Given the description of an element on the screen output the (x, y) to click on. 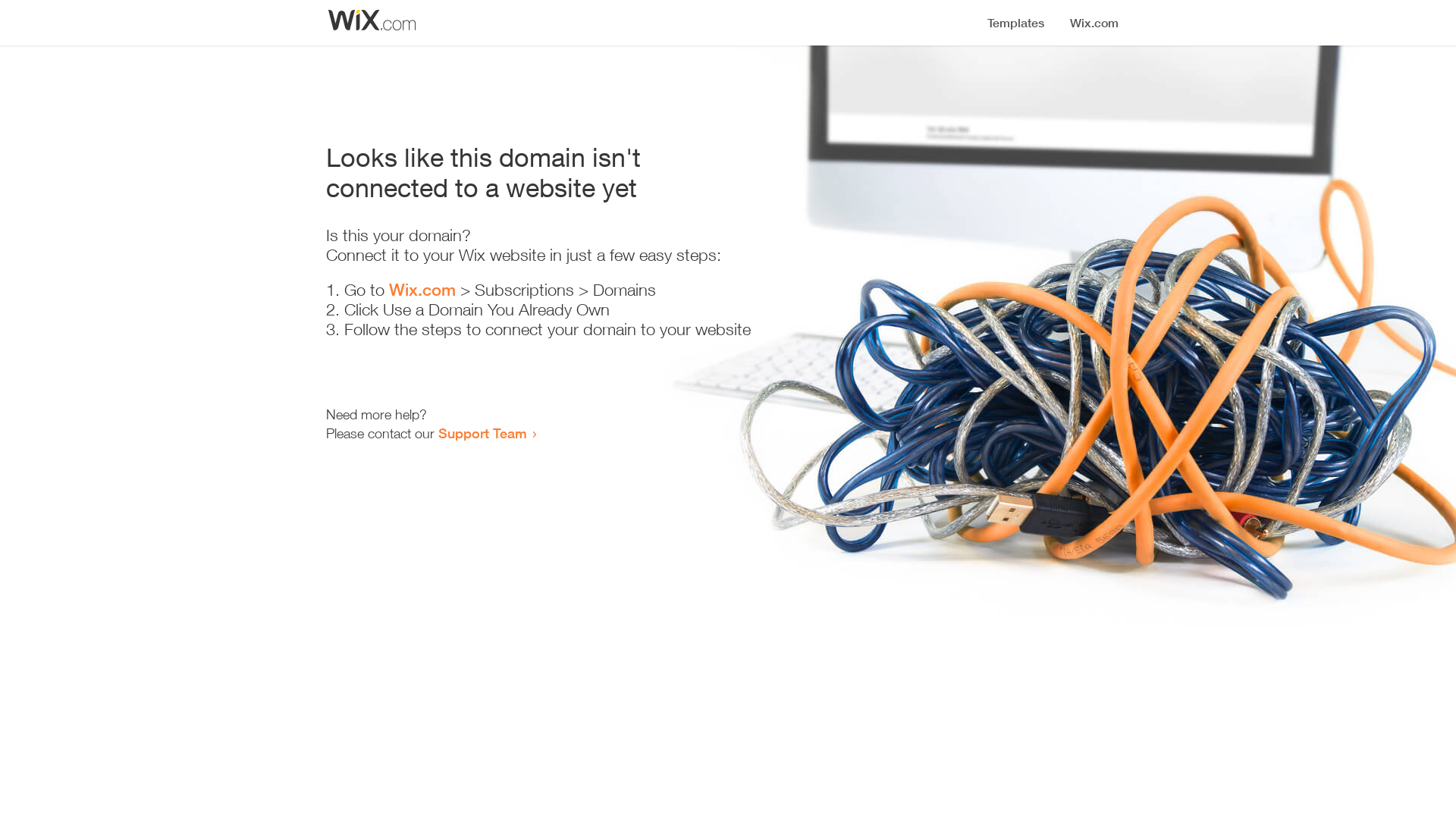
Wix.com Element type: text (422, 289)
Support Team Element type: text (482, 432)
